Given the description of an element on the screen output the (x, y) to click on. 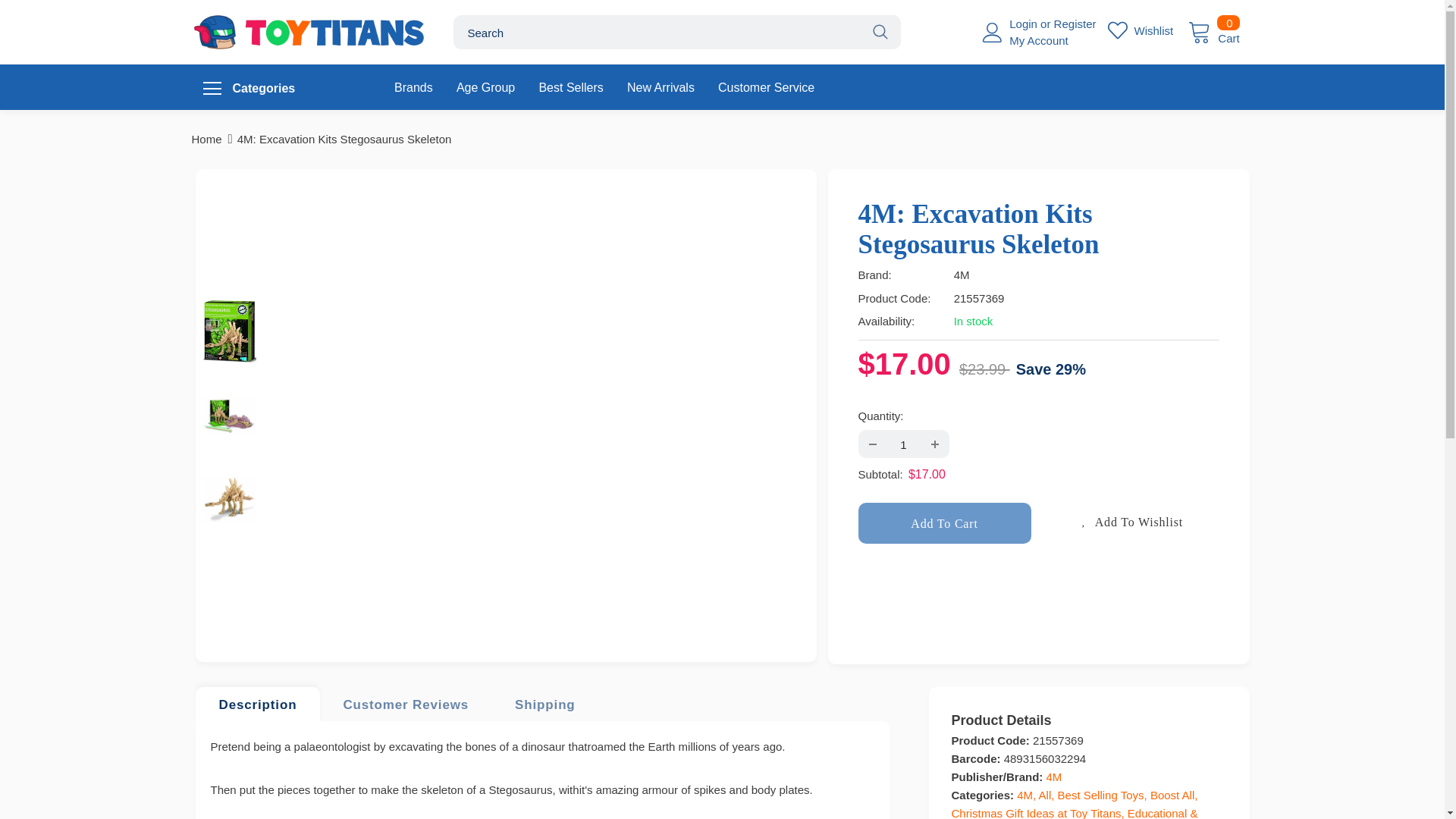
Logo (308, 32)
Login (1025, 23)
Register (1075, 23)
My Account (1038, 40)
Add to Cart (1214, 30)
1 (944, 522)
Wishlist (902, 443)
